Given the description of an element on the screen output the (x, y) to click on. 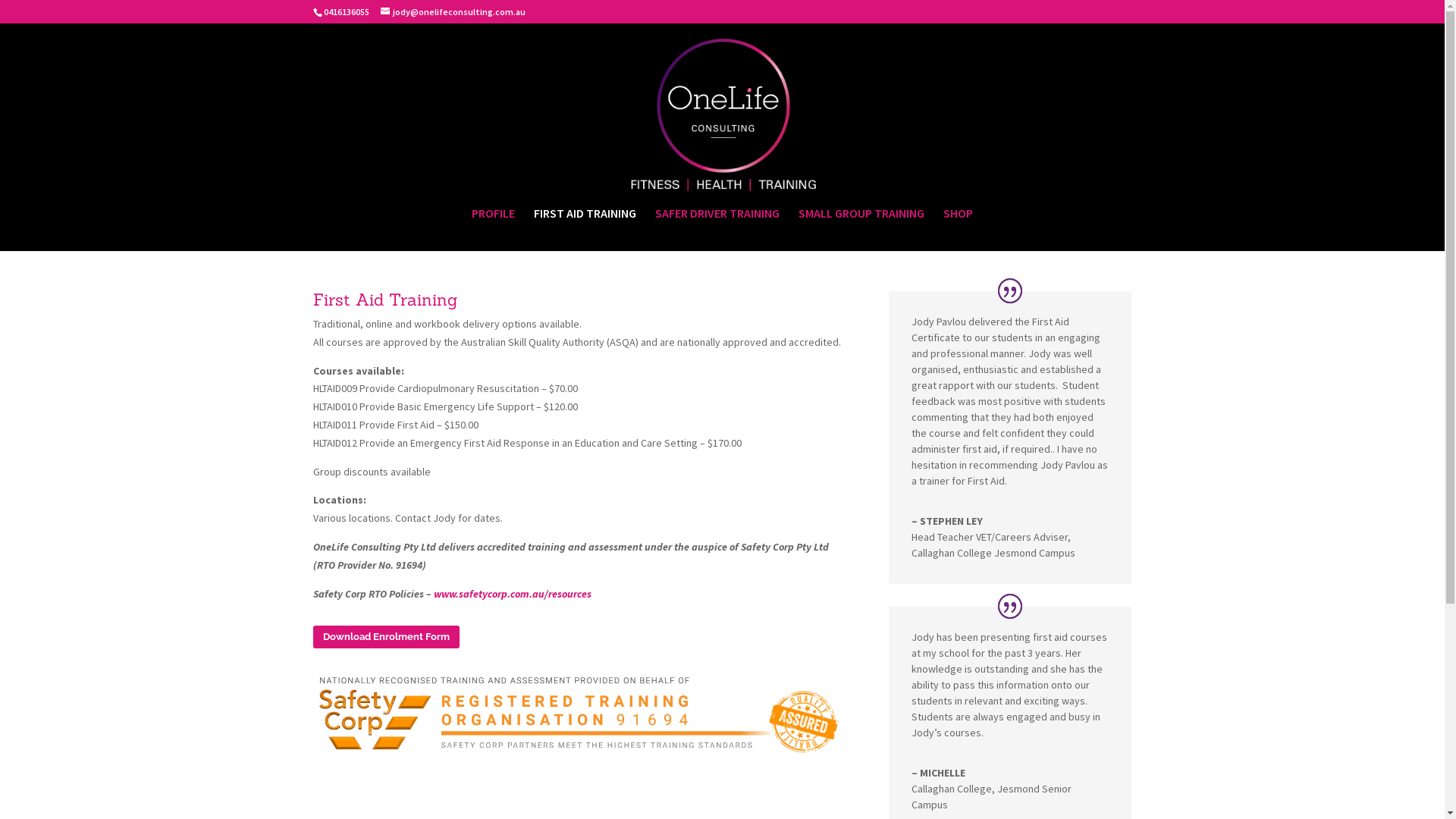
SAFER DRIVER TRAINING Element type: text (717, 229)
PROFILE Element type: text (492, 229)
FIRST AID TRAINING Element type: text (584, 229)
SHOP Element type: text (957, 229)
www.safetycorp.com.au/resources Element type: text (512, 593)
Download Enrolment Form Element type: text (385, 636)
SMALL GROUP TRAINING Element type: text (861, 229)
jody@onelifeconsulting.com.au Element type: text (452, 11)
